Given the description of an element on the screen output the (x, y) to click on. 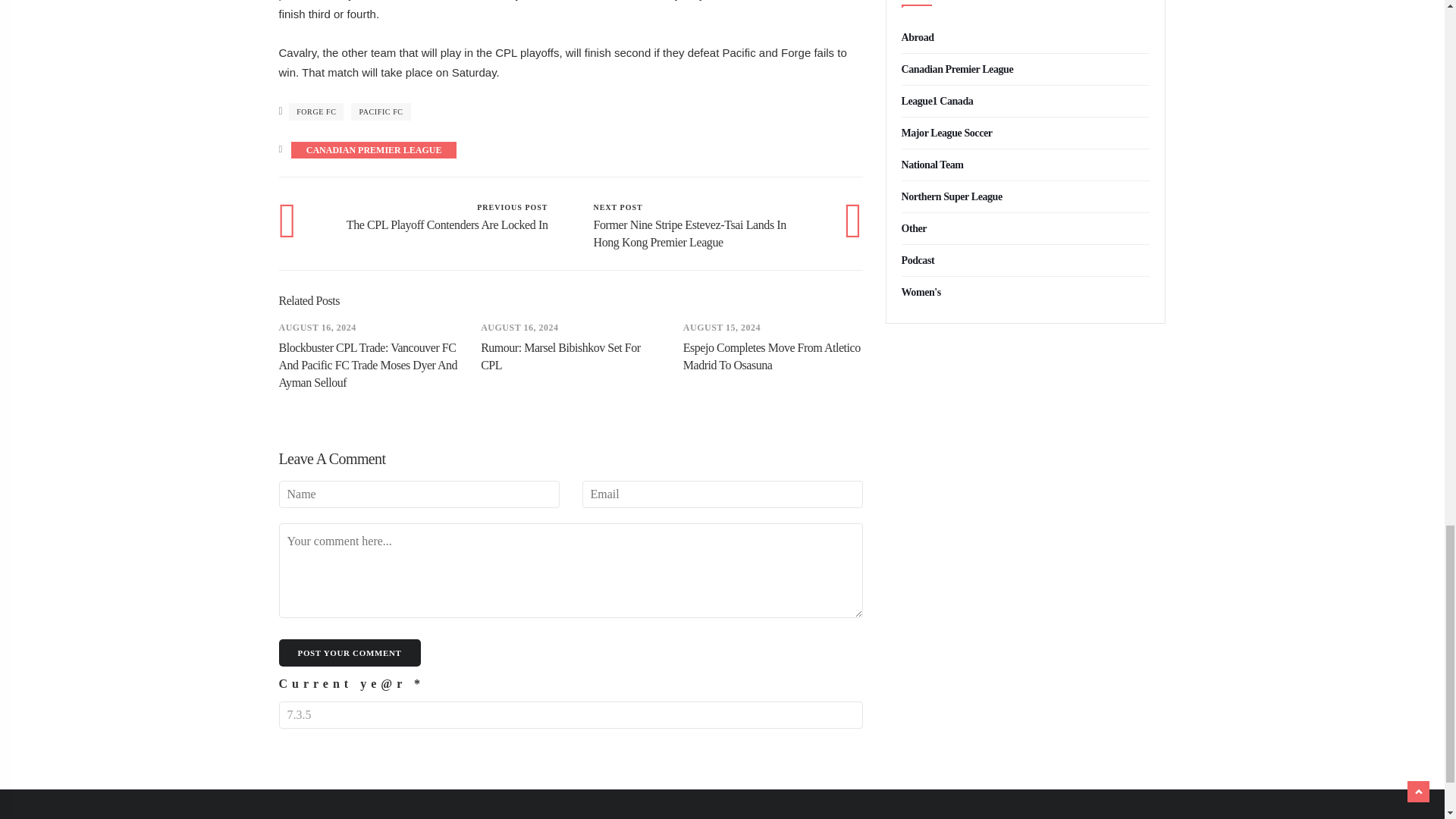
CANADIAN PREMIER LEAGUE (373, 149)
PACIFIC FC (444, 216)
7.3.5 (380, 111)
FORGE FC (571, 714)
